Given the description of an element on the screen output the (x, y) to click on. 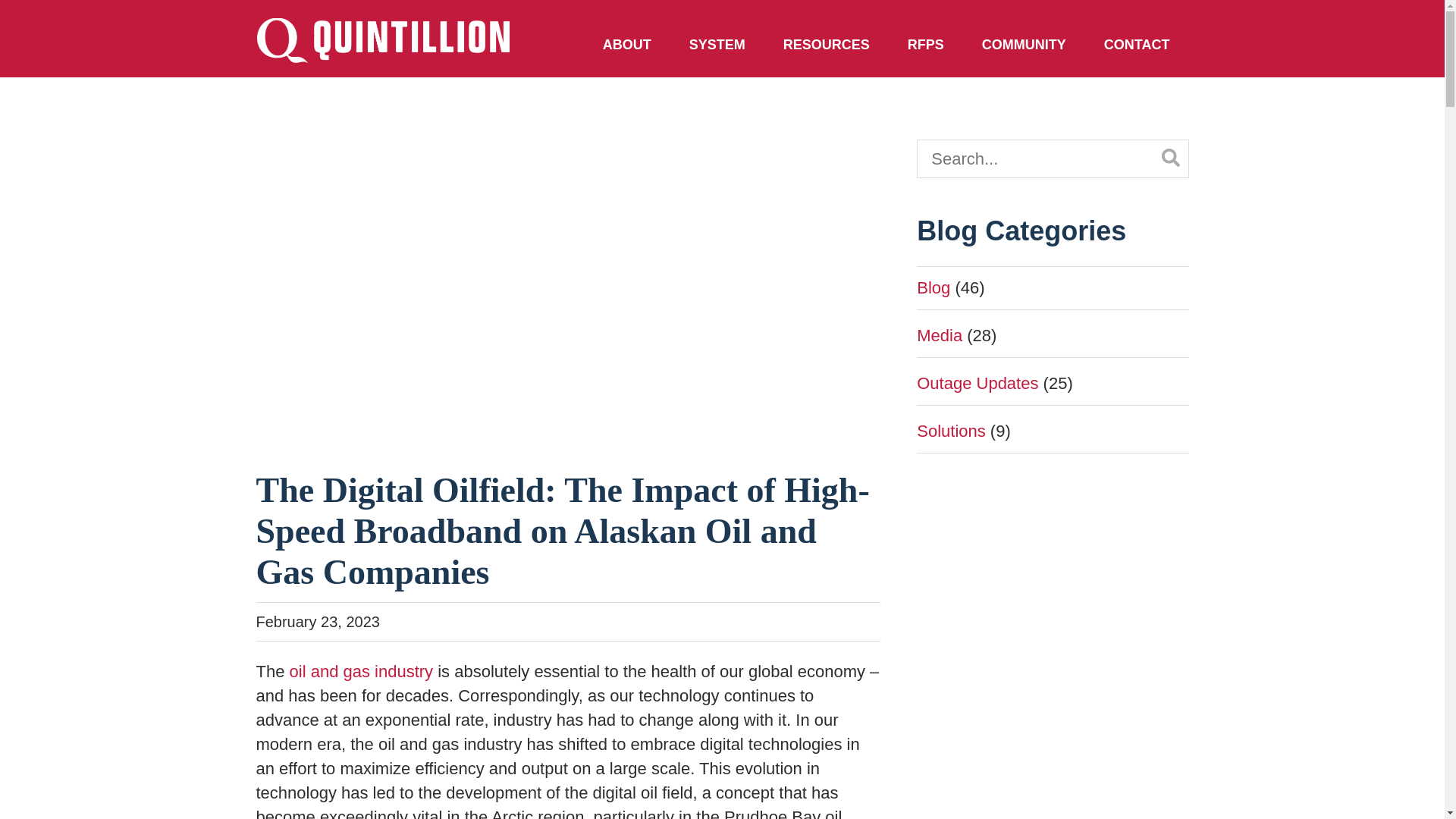
SYSTEM (716, 45)
RESOURCES (826, 45)
CONTACT (1136, 45)
ABOUT (626, 45)
oil and gas industry (361, 670)
COMMUNITY (1023, 45)
RFPS (925, 45)
Quintillion (383, 40)
Blog (933, 287)
